Given the description of an element on the screen output the (x, y) to click on. 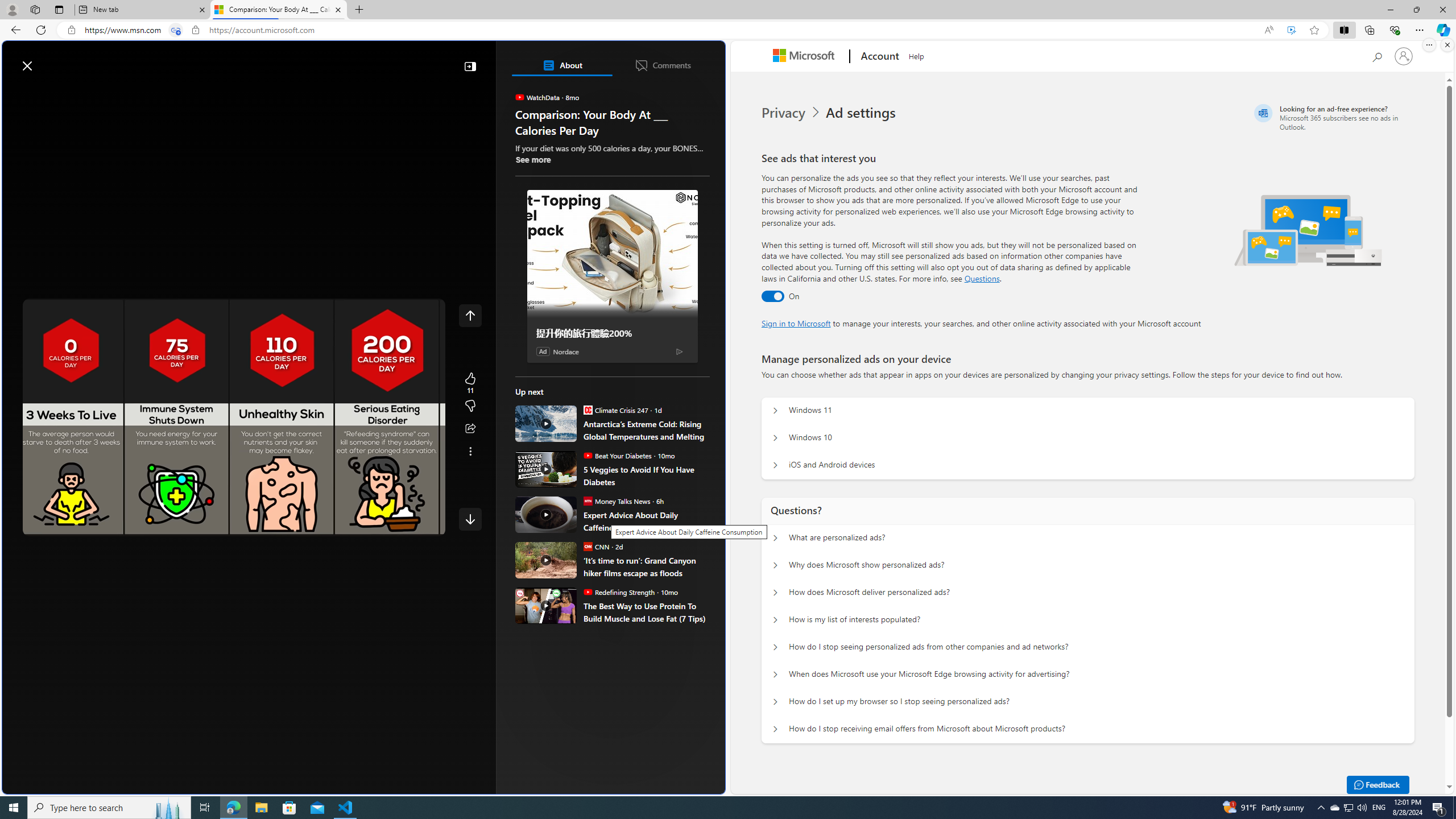
Ad settings toggle (772, 296)
Beat Your Diabetes Beat Your Diabetes (617, 455)
Class: button-glyph (16, 92)
Enter your search term (366, 59)
Microsoft (805, 56)
More options. (1428, 45)
Skip to content (49, 59)
New Tab (358, 9)
Collapse (469, 65)
Account (878, 56)
